Given the description of an element on the screen output the (x, y) to click on. 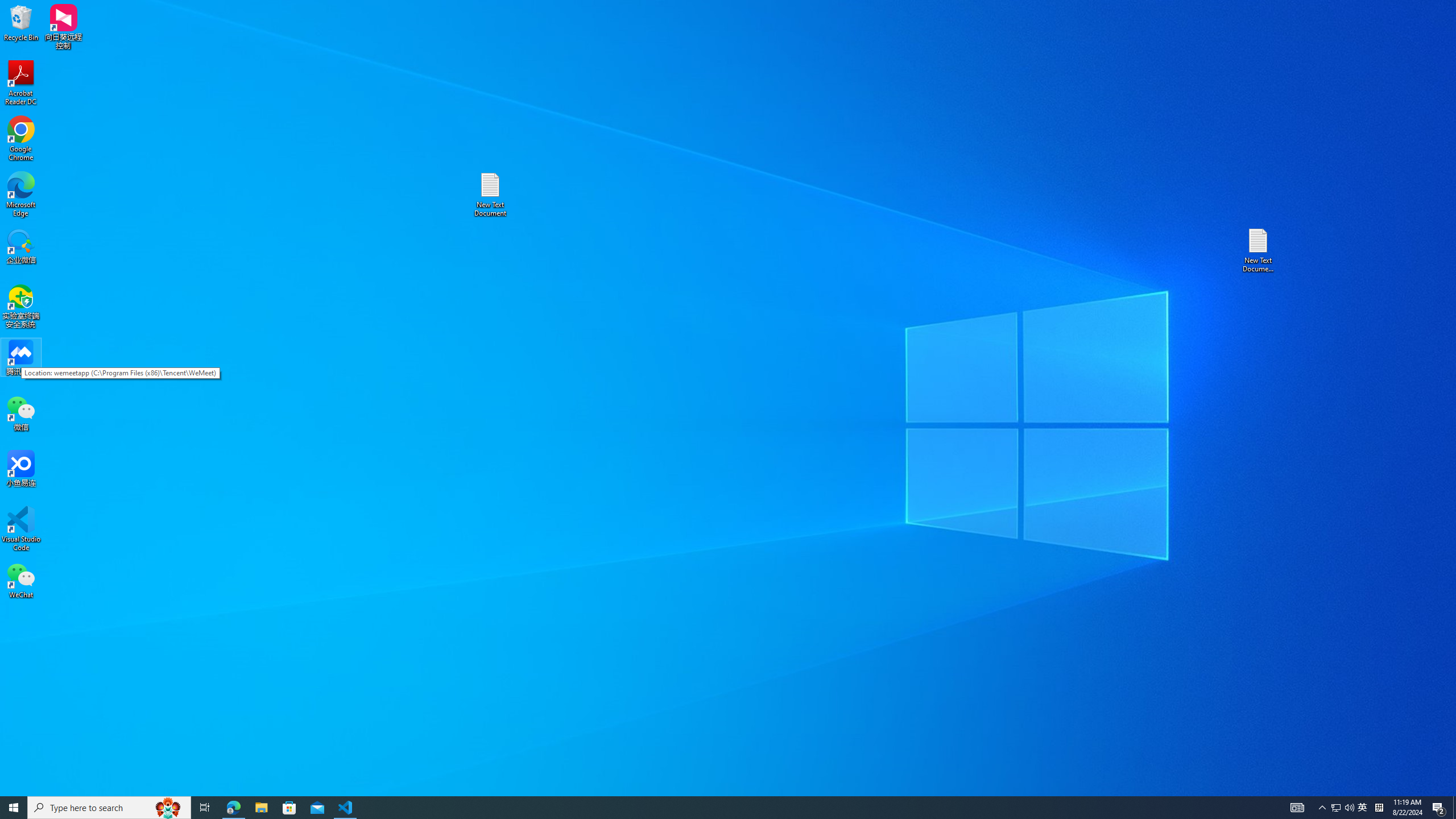
Type here to search (108, 807)
Recycle Bin (21, 22)
Search highlights icon opens search home window (167, 807)
Microsoft Edge - 1 running window (233, 807)
Acrobat Reader DC (1362, 807)
AutomationID: 4105 (21, 82)
Google Chrome (1335, 807)
Running applications (1297, 807)
File Explorer (21, 138)
Action Center, 2 new notifications (707, 807)
